Given the description of an element on the screen output the (x, y) to click on. 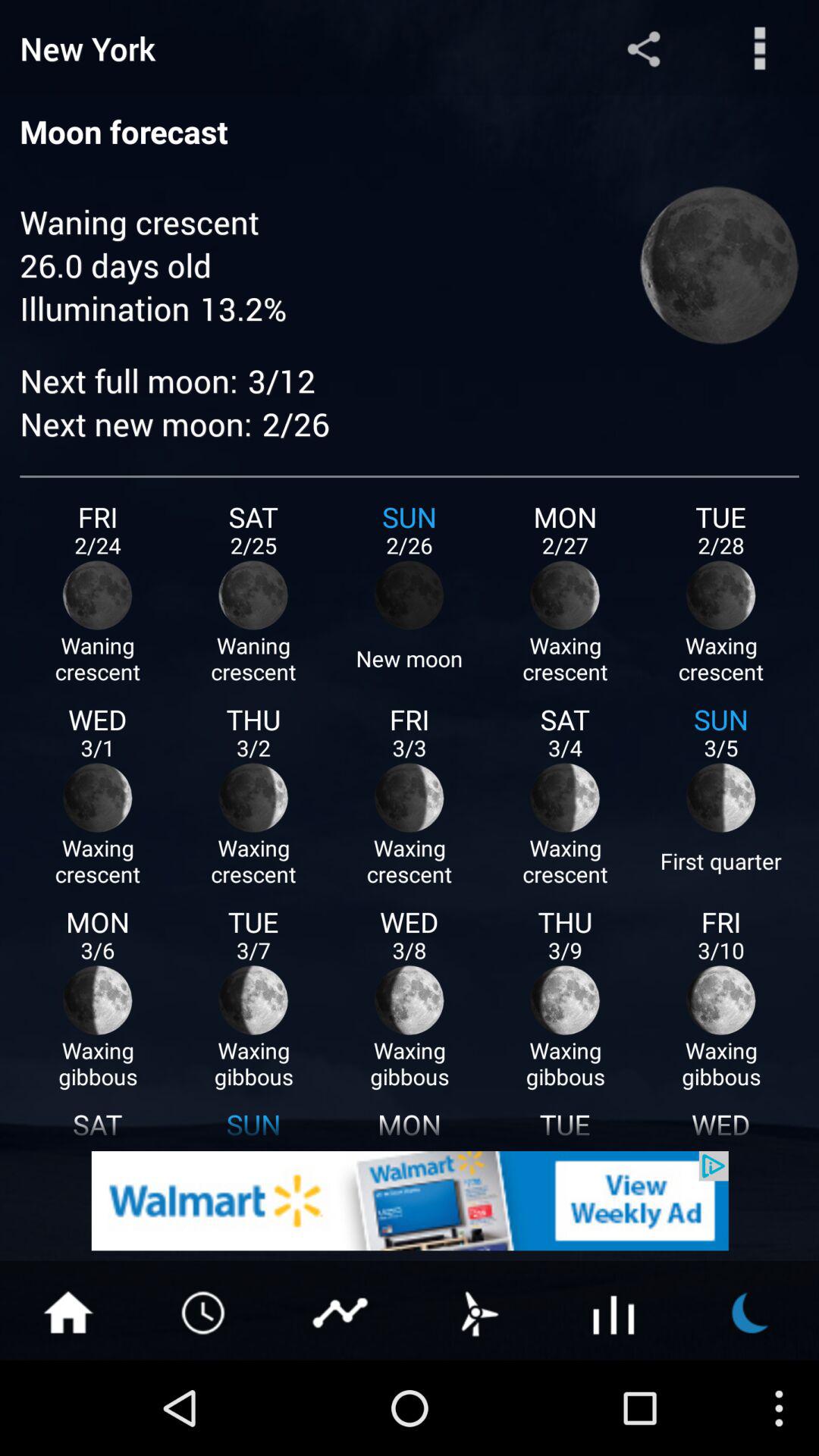
more options (759, 48)
